Given the description of an element on the screen output the (x, y) to click on. 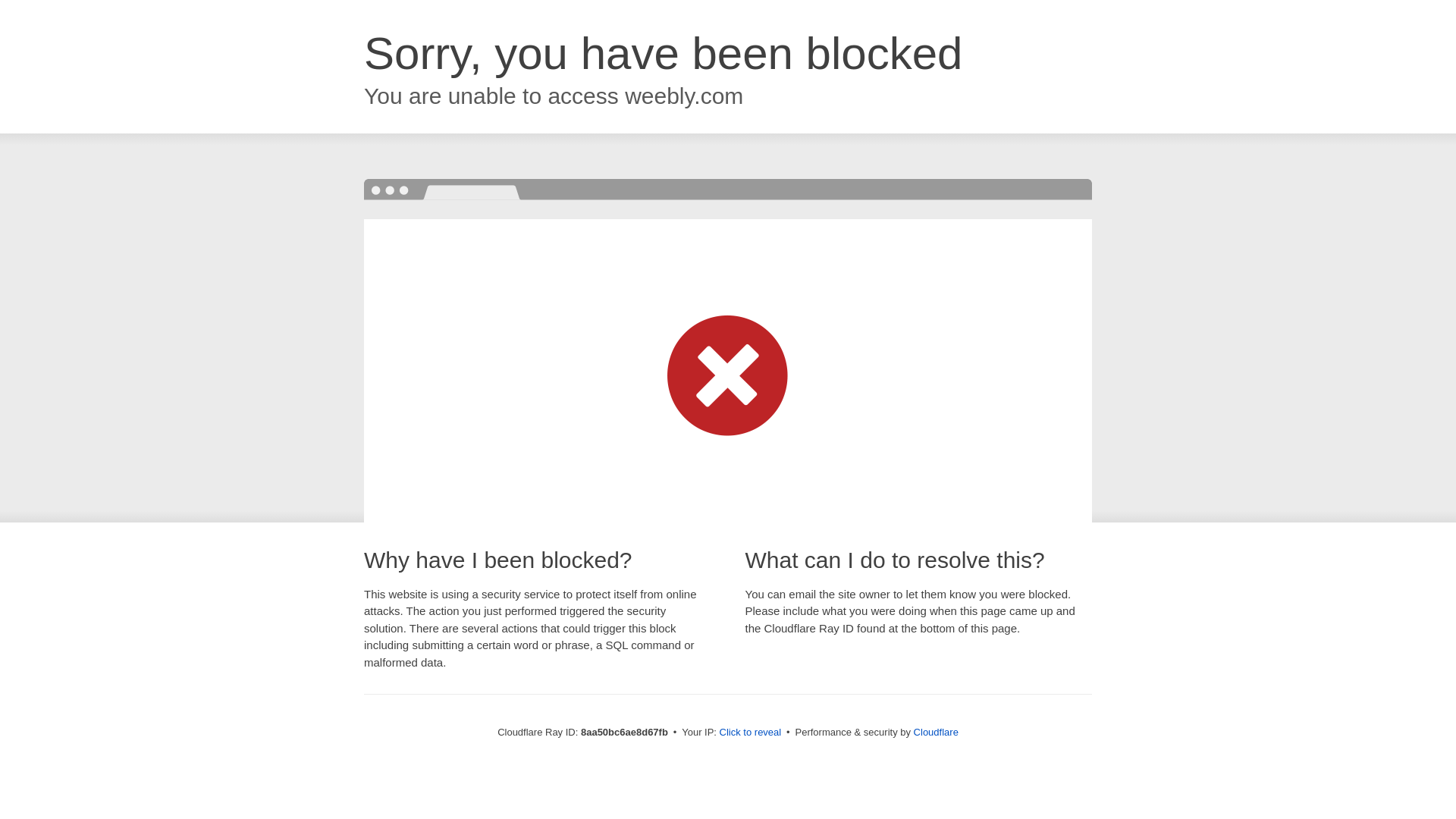
Click to reveal (750, 732)
Cloudflare (936, 731)
